Given the description of an element on the screen output the (x, y) to click on. 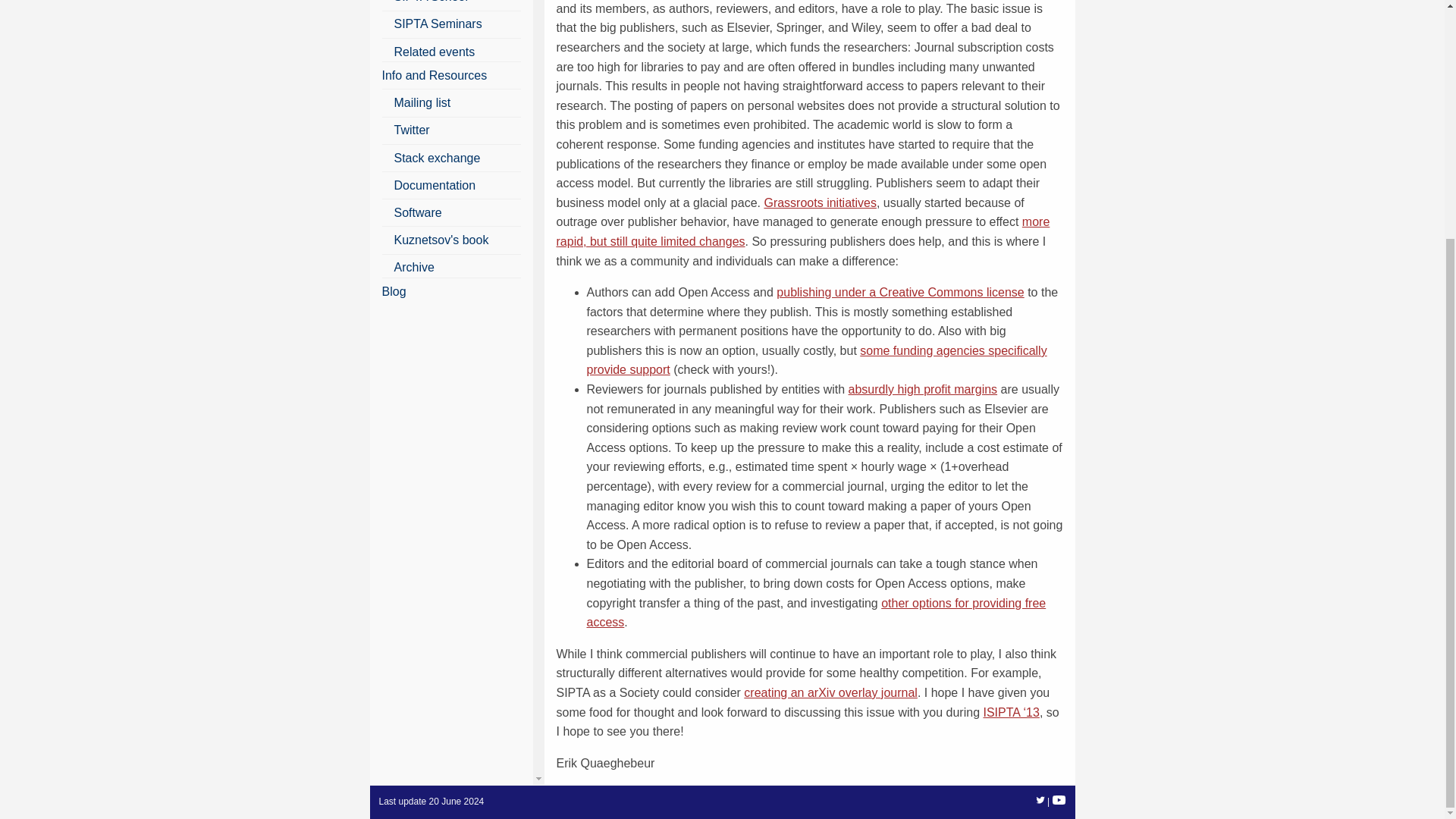
Kuznetsov's book (441, 239)
Related events (435, 51)
Info and Resources (434, 74)
Blog (393, 291)
Software (418, 212)
Archive (413, 267)
Mailing list (422, 102)
other options for providing free access (816, 613)
SIPTA Seminars (437, 23)
more rapid, but still quite limited changes (802, 231)
SIPTA School (431, 1)
Twitter (411, 129)
publishing under a Creative Commons license (899, 291)
creating an arXiv overlay journal (830, 692)
absurdly high profit margins (922, 389)
